Given the description of an element on the screen output the (x, y) to click on. 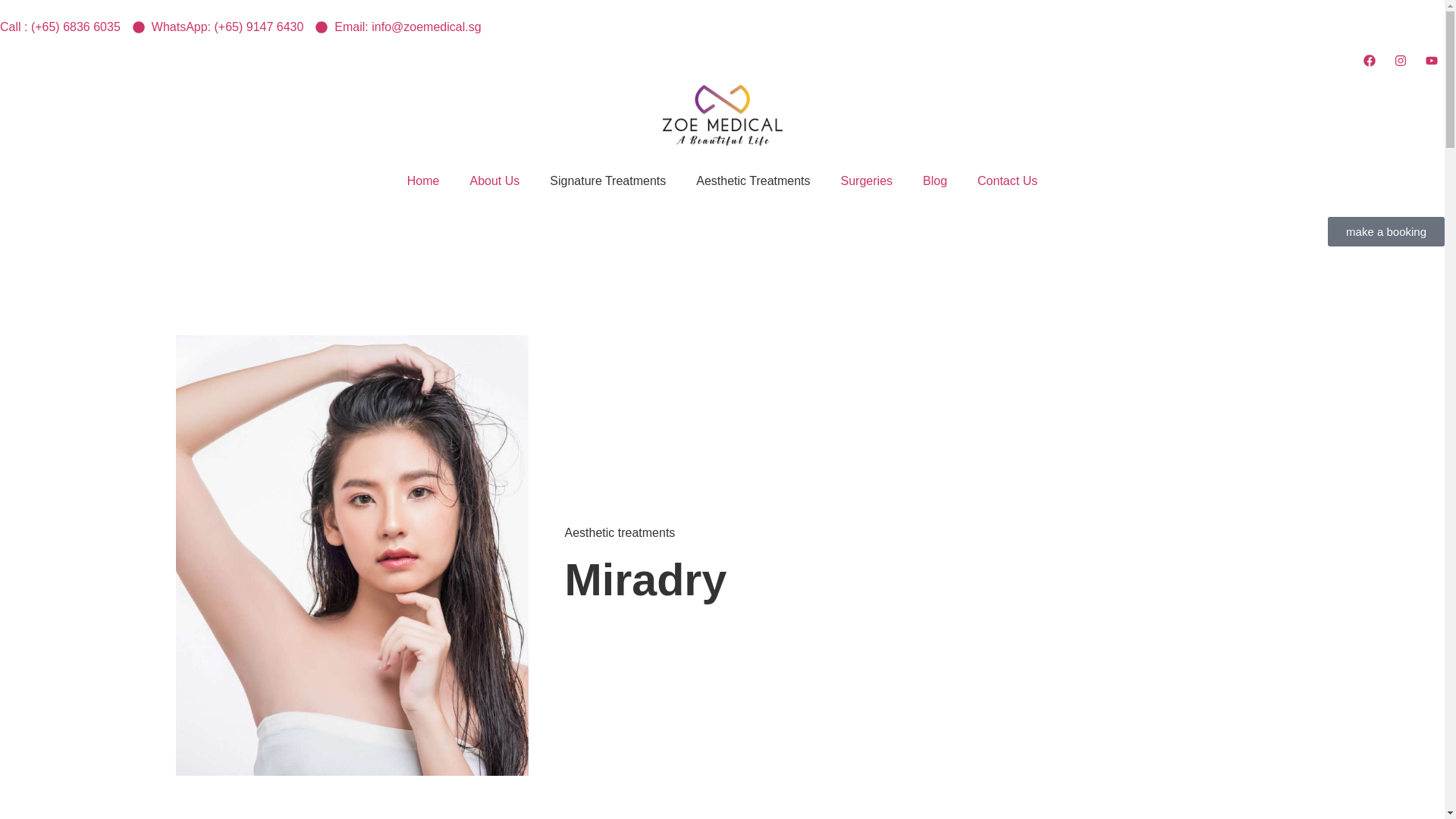
Aesthetic Treatments (753, 181)
Blog (934, 181)
Surgeries (866, 181)
Signature Treatments (607, 181)
Home (422, 181)
About Us (494, 181)
Contact Us (1007, 181)
